Given the description of an element on the screen output the (x, y) to click on. 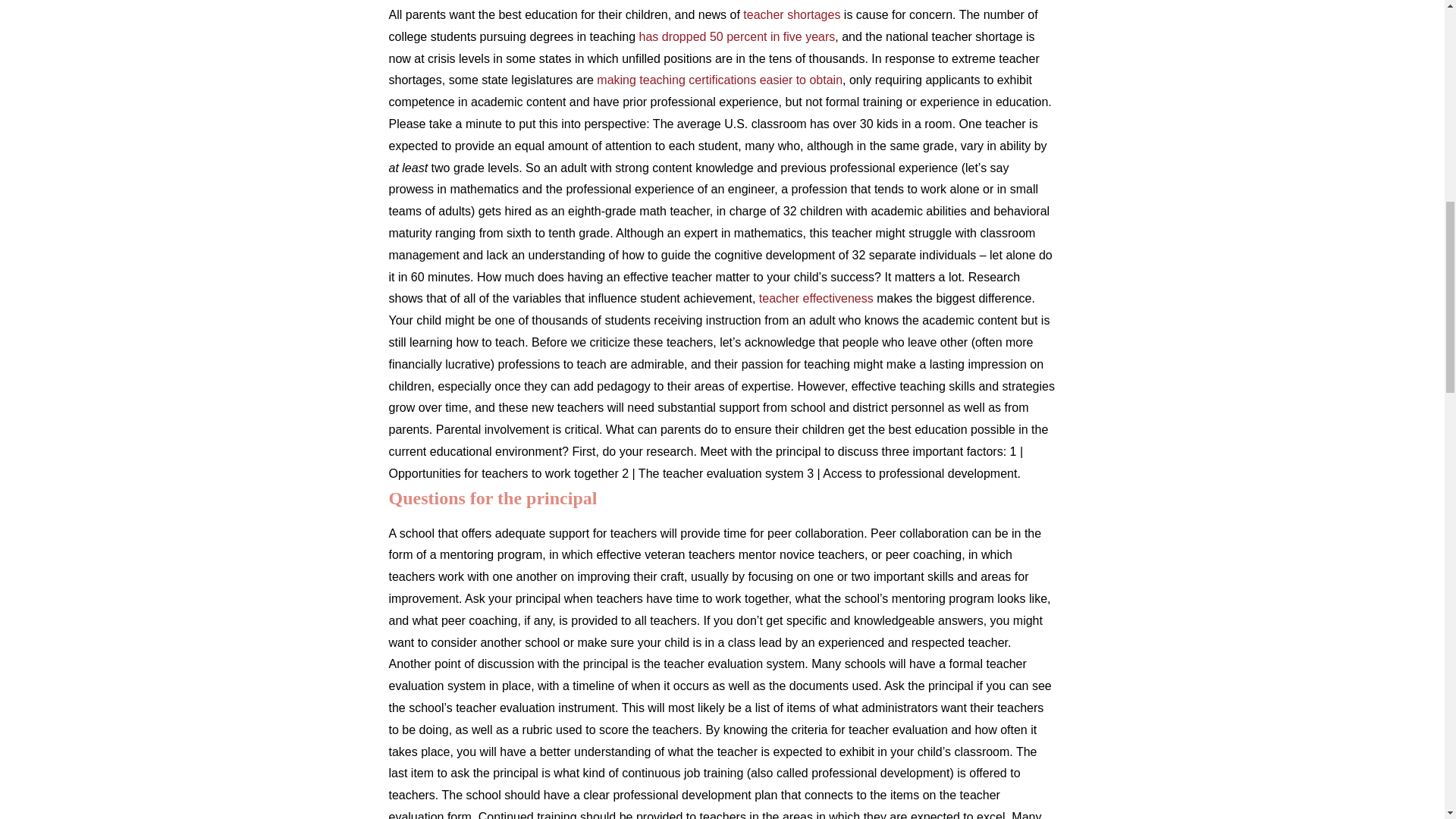
making teaching certifications easier to obtain (719, 79)
teacher shortages (791, 14)
has dropped 50 percent in five years (736, 36)
teacher effectiveness (815, 297)
